Given the description of an element on the screen output the (x, y) to click on. 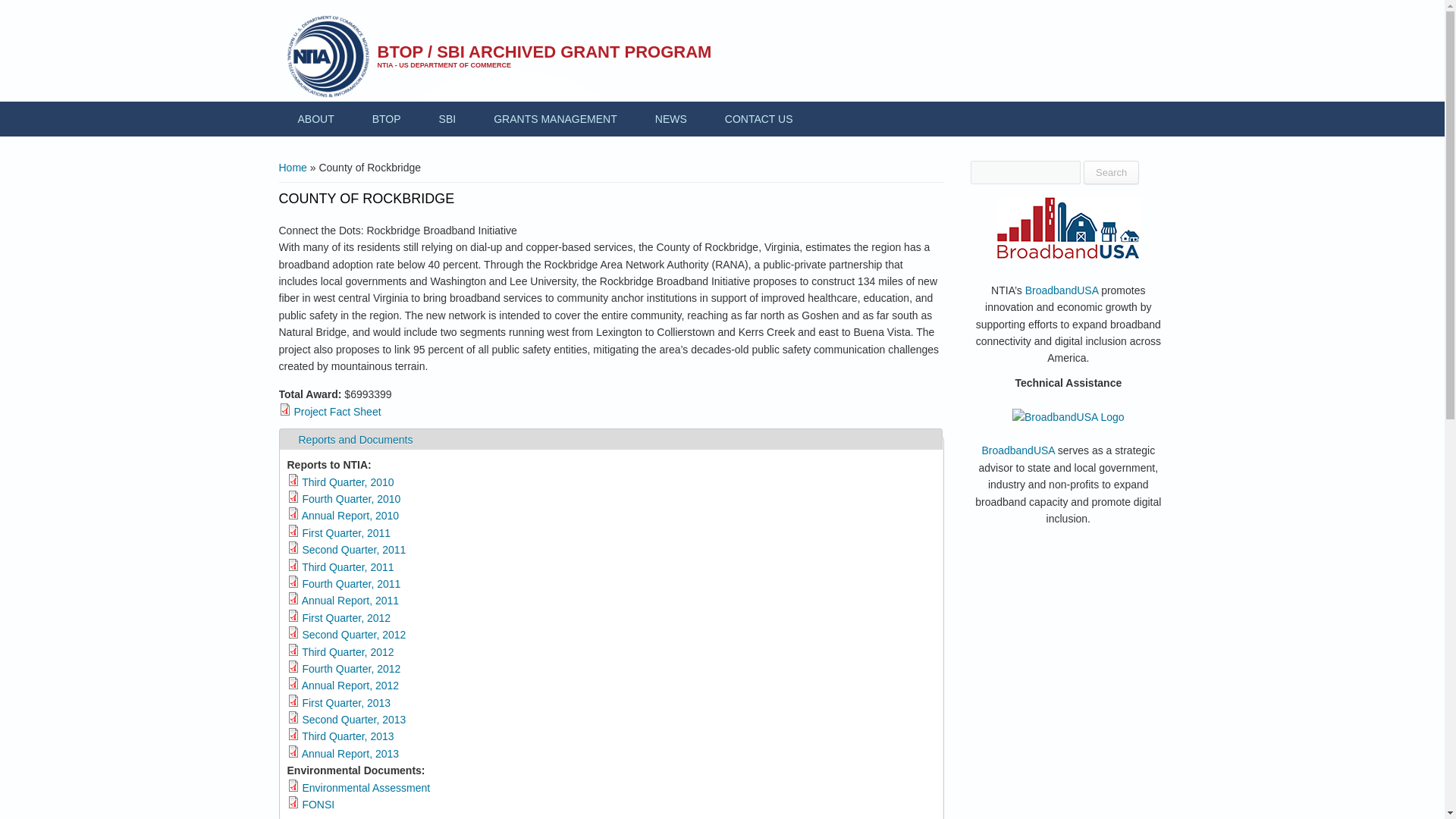
Home (293, 167)
First Quarter, 2012 (345, 617)
Second Quarter, 2011 (353, 549)
Fourth Quarter, 2010 (355, 439)
Project Fact Sheet (350, 499)
Annual Report, 2010 (337, 411)
Search (349, 515)
Third Quarter, 2012 (1110, 172)
First Quarter, 2011 (347, 652)
NEWS (345, 532)
Fourth Quarter, 2012 (671, 118)
BTOP (350, 668)
Annual Report, 2011 (386, 118)
Fourth Quarter, 2011 (349, 600)
